Given the description of an element on the screen output the (x, y) to click on. 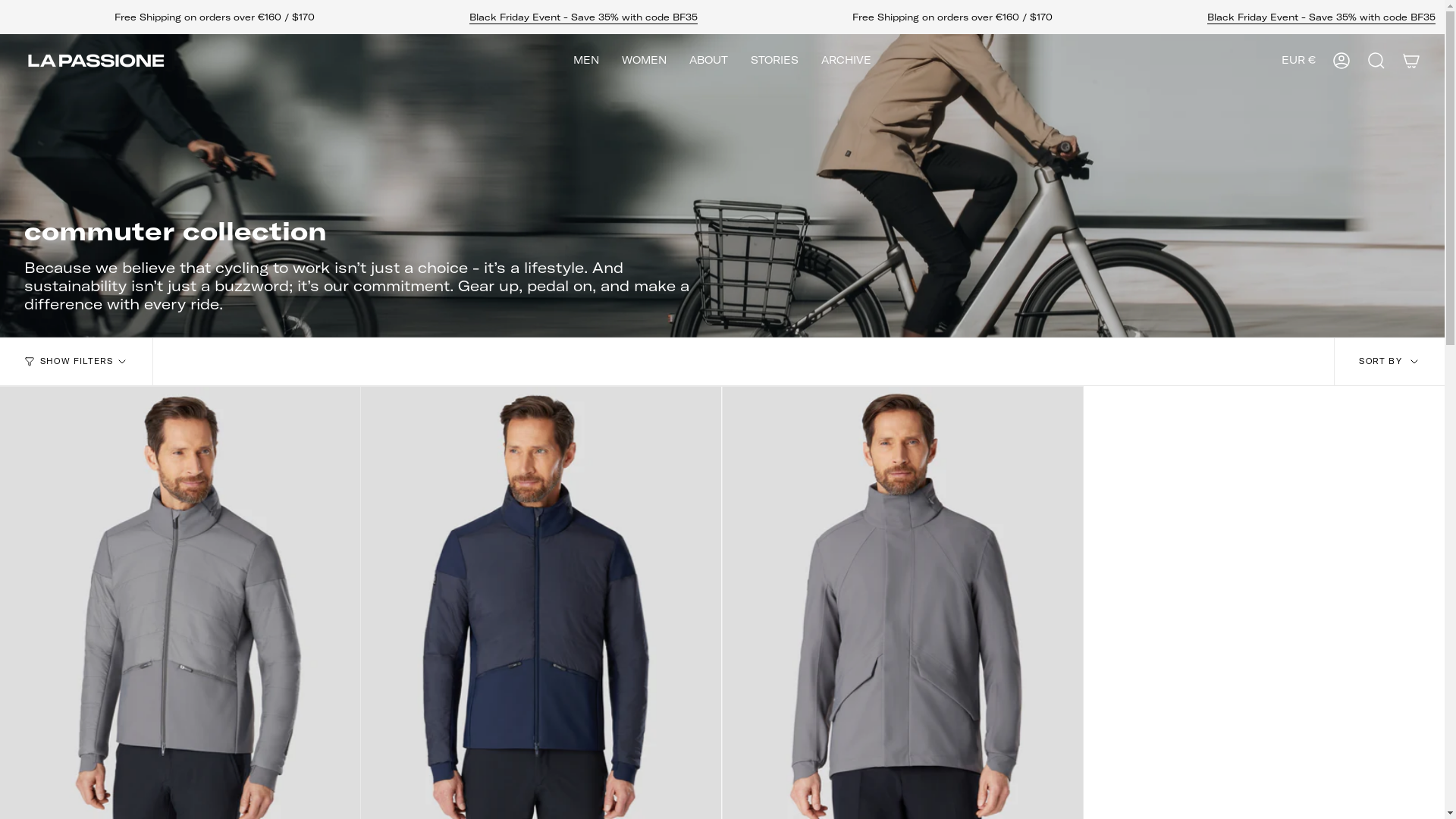
WOMEN Element type: text (643, 60)
Black Friday Event - Save 35% with code BF35 Element type: text (583, 18)
Account Element type: text (1341, 60)
SORT BY Element type: text (1388, 361)
Cart Element type: text (1410, 60)
MEN Element type: text (585, 60)
STORIES Element type: text (774, 60)
Black Friday Event - Save 35% with code BF35 Element type: text (1321, 18)
ARCHIVE Element type: text (845, 60)
SHOW FILTERS Element type: text (76, 361)
ABOUT Element type: text (708, 60)
